Given the description of an element on the screen output the (x, y) to click on. 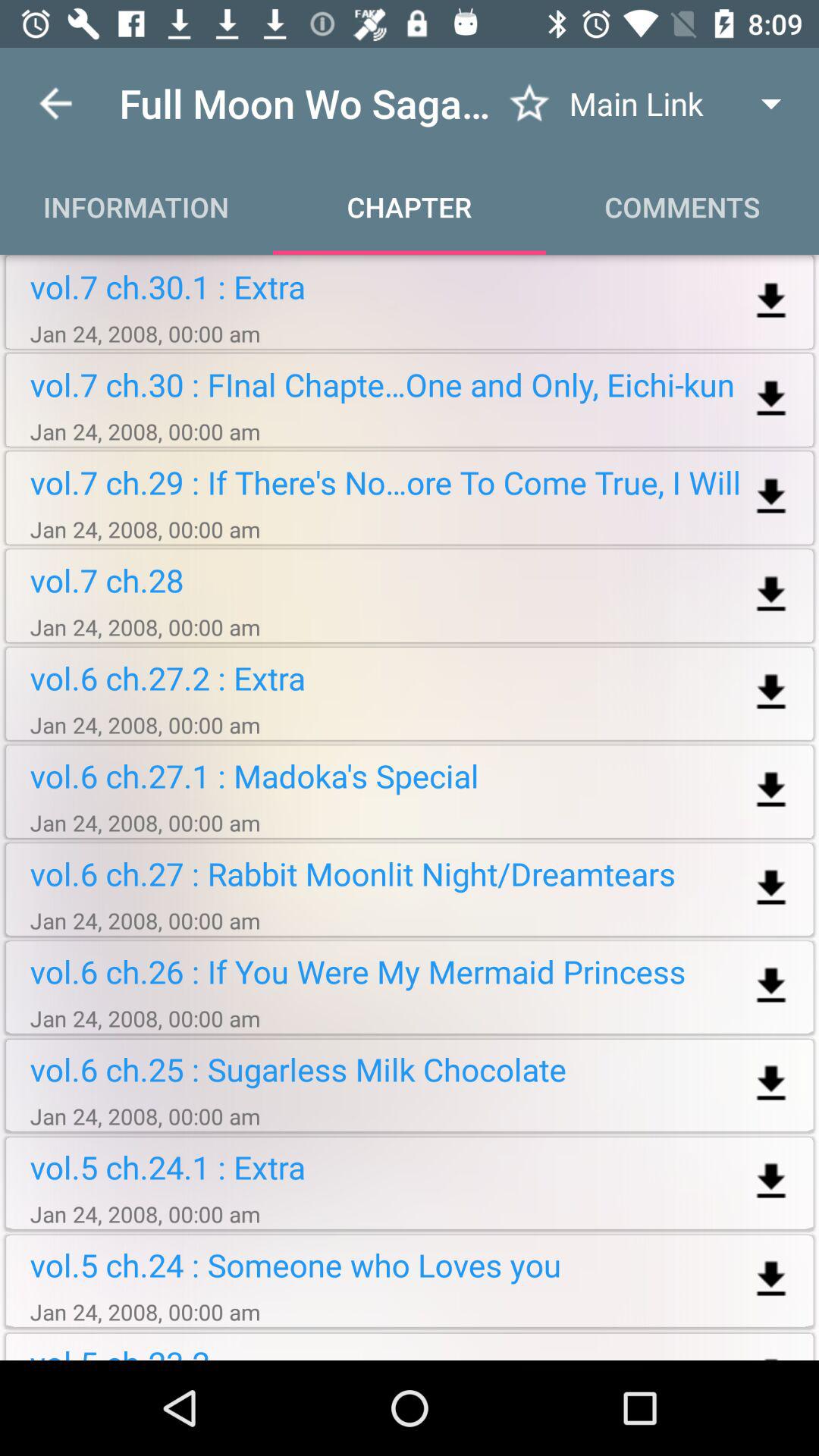
download (771, 399)
